Given the description of an element on the screen output the (x, y) to click on. 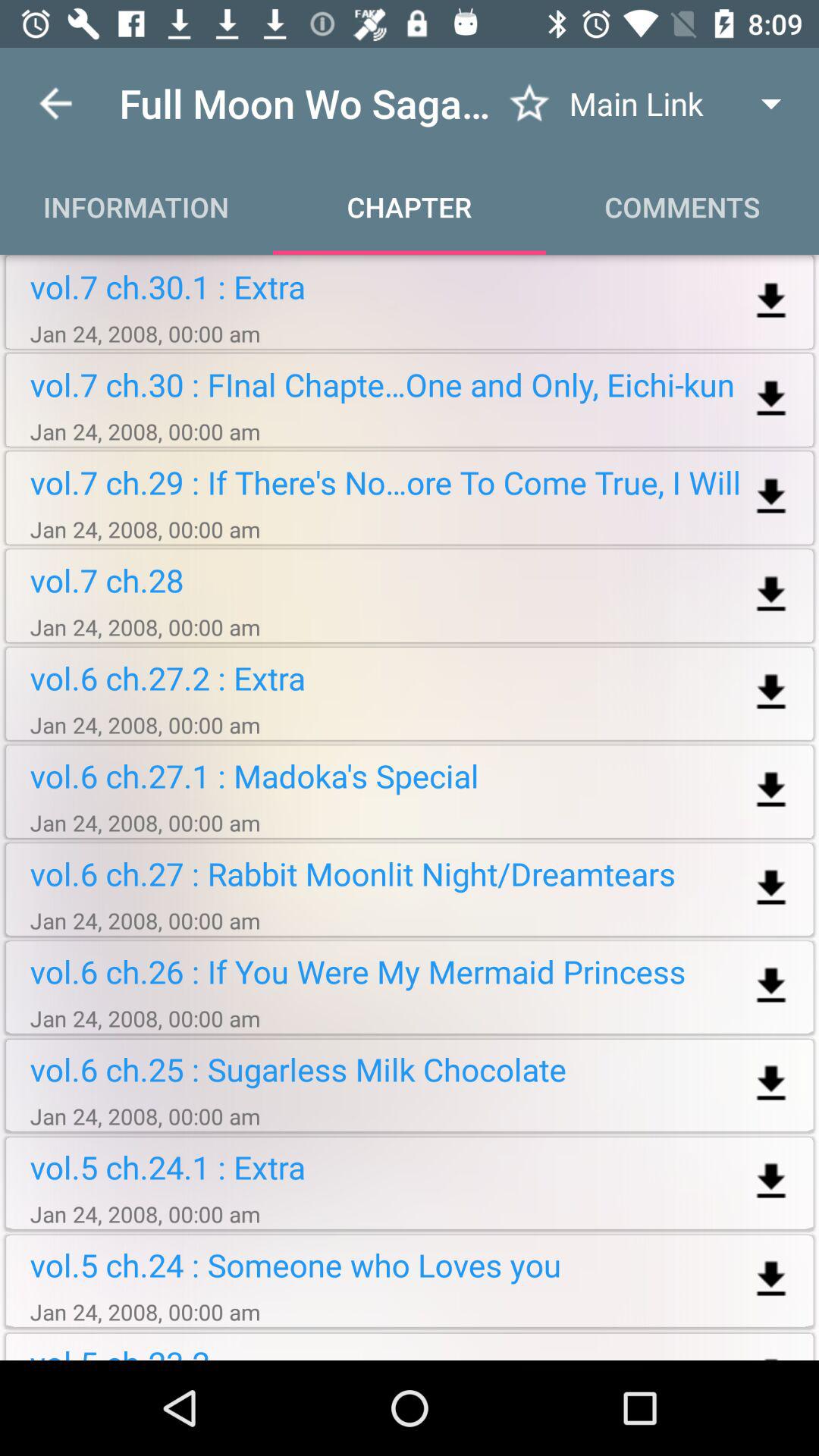
download (771, 399)
